Given the description of an element on the screen output the (x, y) to click on. 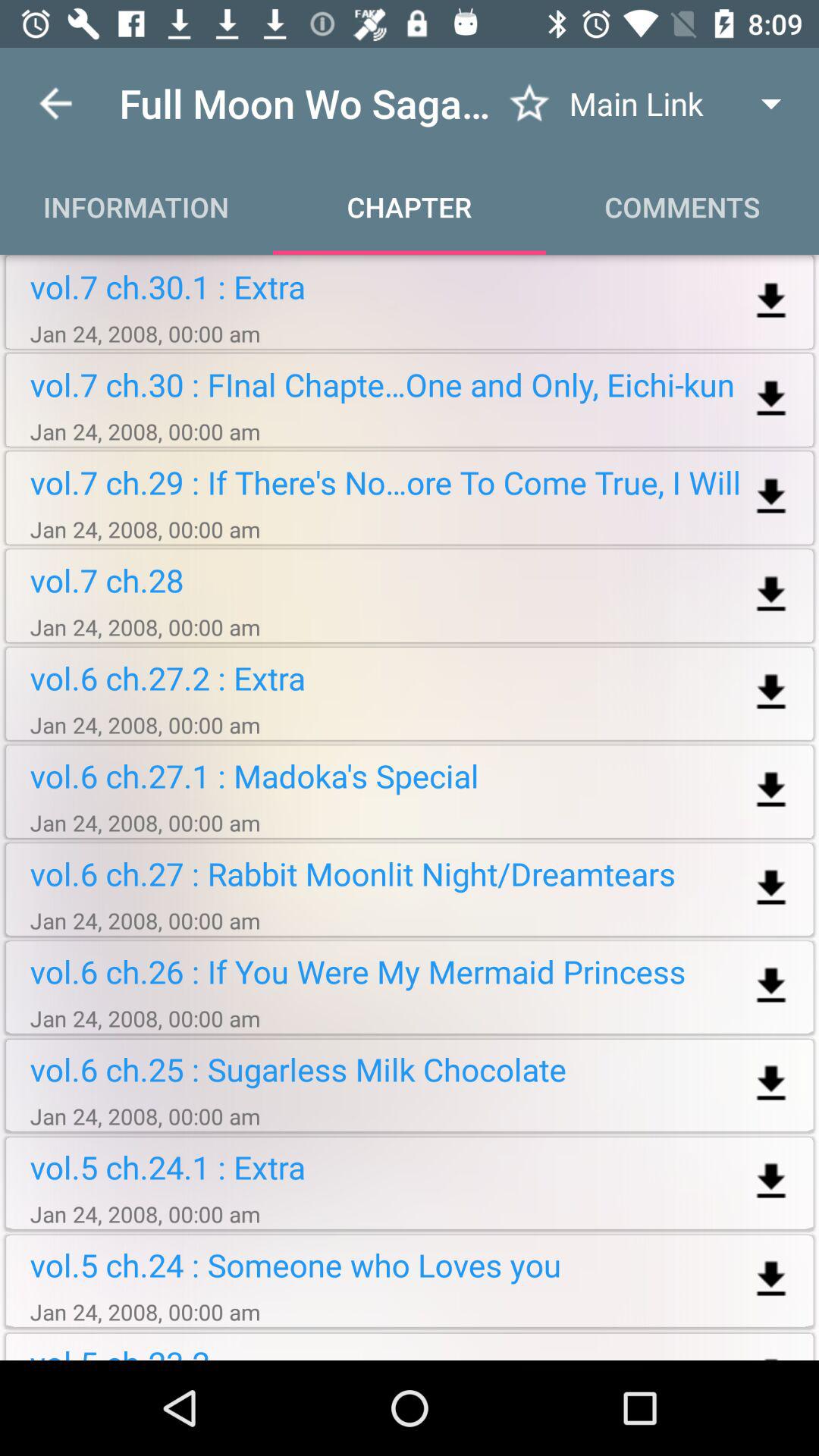
download (771, 399)
